Given the description of an element on the screen output the (x, y) to click on. 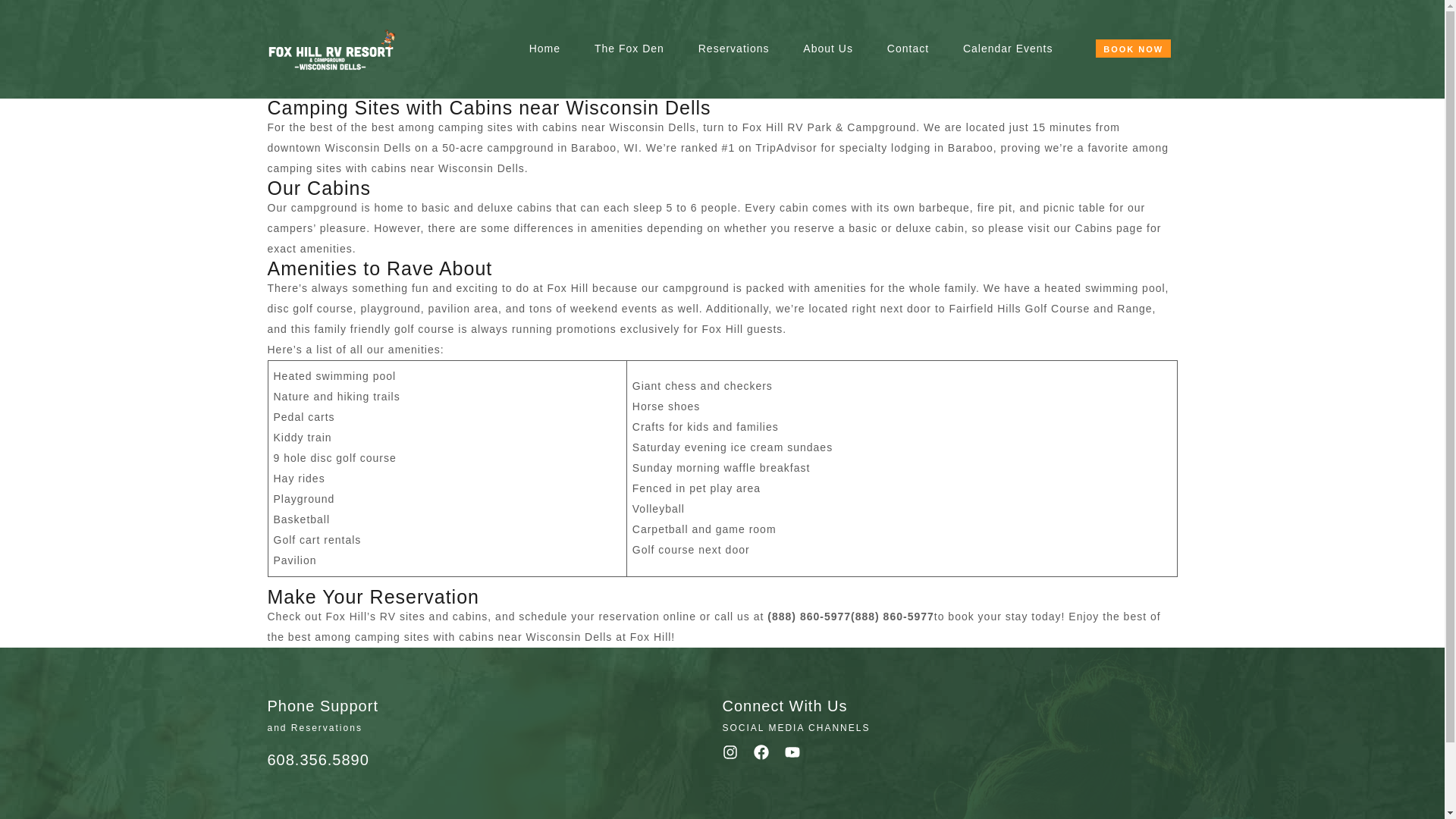
Cabins page (1108, 227)
About Us (848, 1)
Golf course next door (690, 549)
BOOK NOW (1133, 48)
Contact (910, 26)
Calendar Events (1008, 29)
RV sites (402, 616)
cabins (533, 207)
Fairfield Hills Golf Course and Range (1050, 308)
TripAdvisor (785, 147)
